Given the description of an element on the screen output the (x, y) to click on. 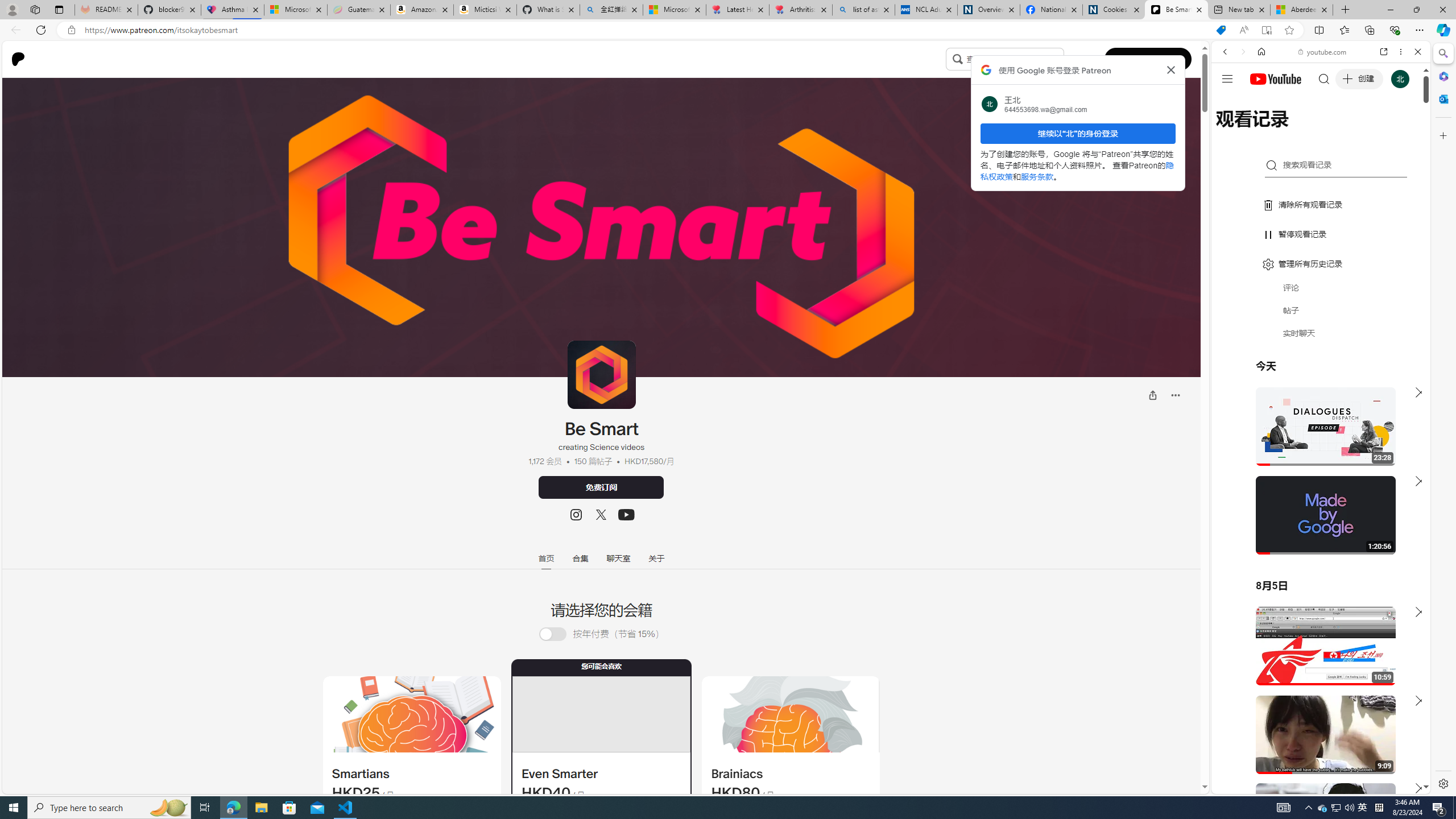
Search videos from youtube.com (1299, 373)
